Given the description of an element on the screen output the (x, y) to click on. 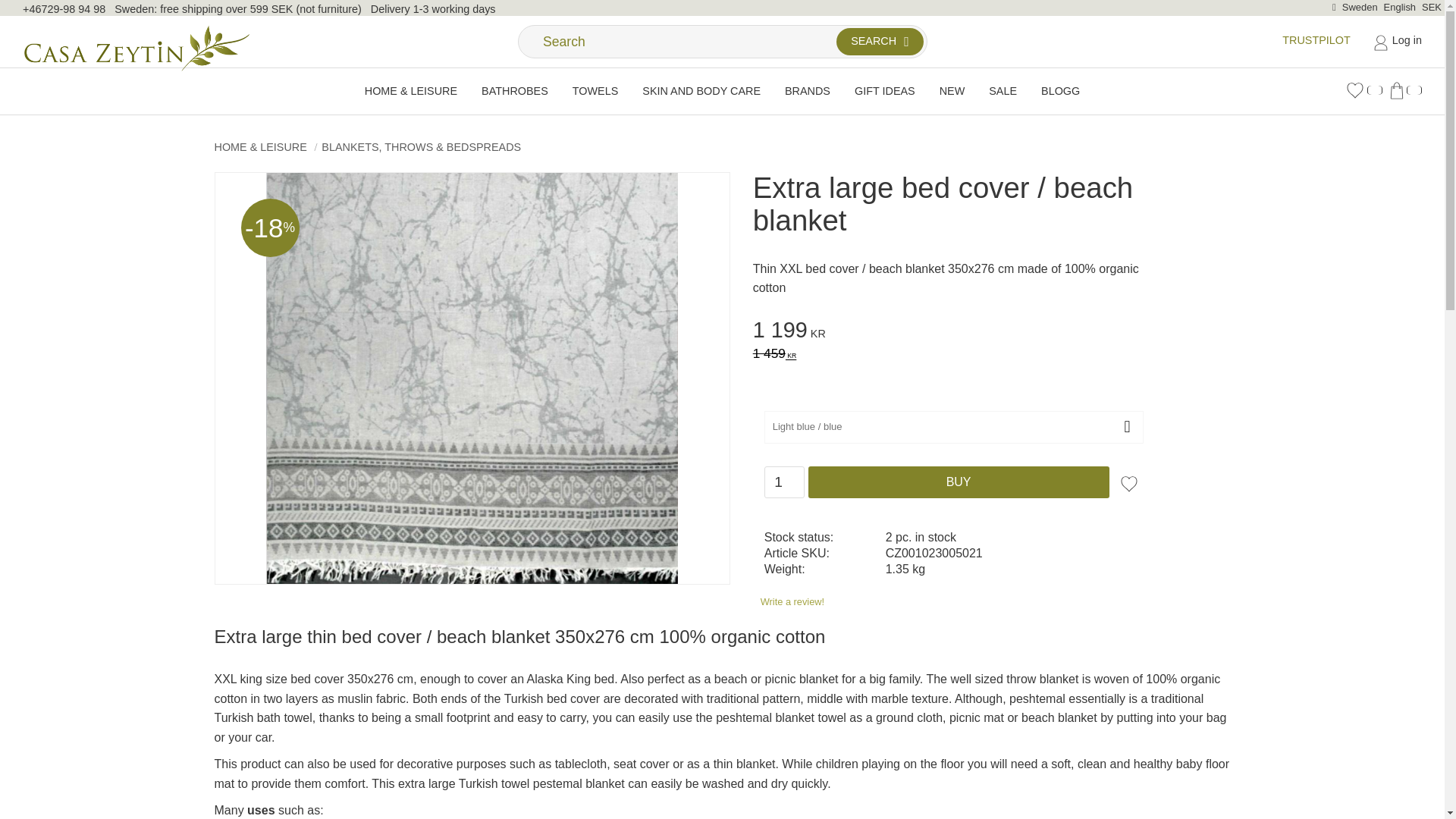
Delivery 1-3 working days (433, 9)
Log in (1397, 40)
1 (784, 481)
SEARCH (879, 40)
TRUSTPILOT (1316, 39)
